Given the description of an element on the screen output the (x, y) to click on. 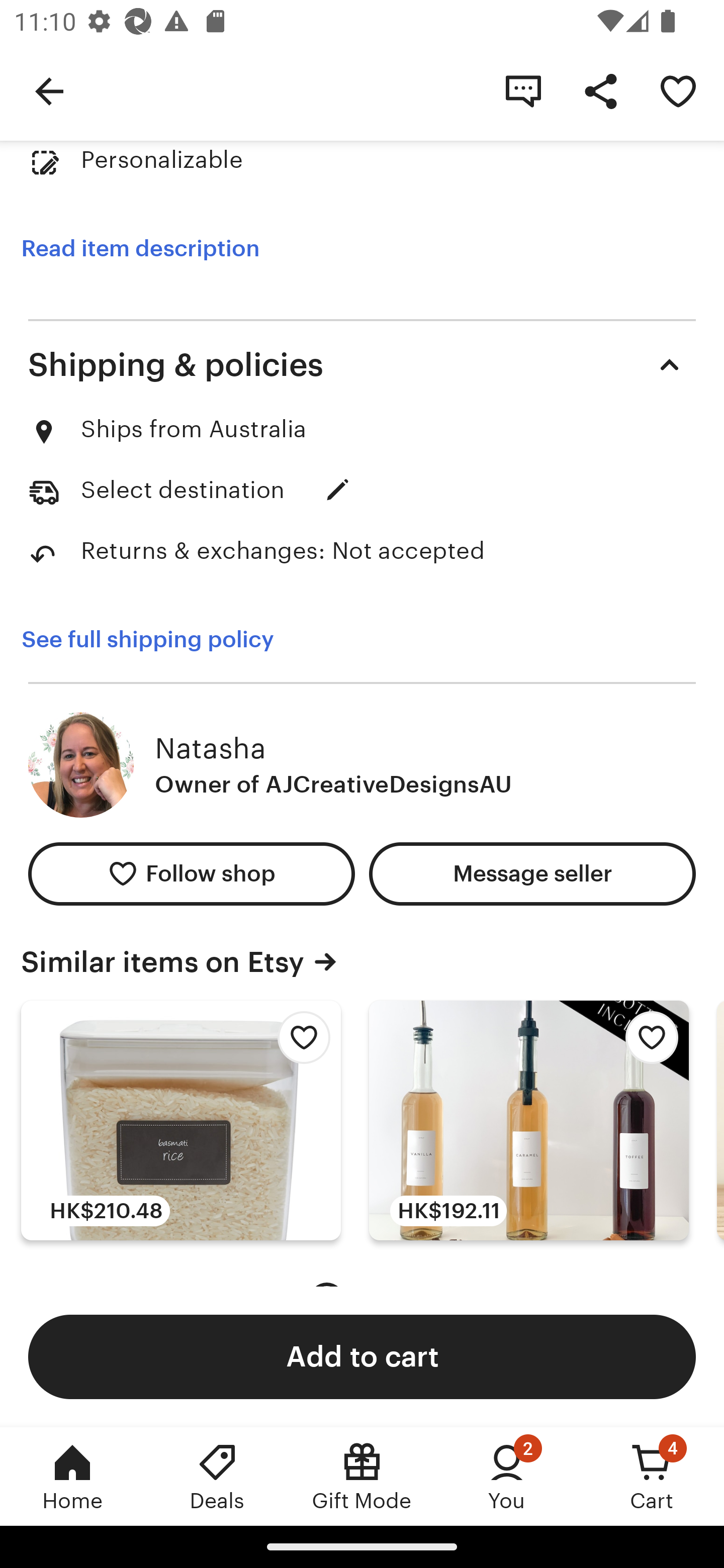
Navigate up (49, 90)
Contact shop (523, 90)
Share (600, 90)
Read item description (140, 248)
Shipping & policies (362, 364)
Update (337, 489)
See full shipping policy (161, 639)
Follow shop Follow AJCreativeDesignsAU (191, 873)
Message seller (532, 873)
Similar items on Etsy  (362, 961)
Add 168 water-resistant pantry labels to favorites (298, 1042)
Add to cart (361, 1355)
Deals (216, 1475)
Gift Mode (361, 1475)
You, 2 new notifications You (506, 1475)
Cart, 4 new notifications Cart (651, 1475)
